Given the description of an element on the screen output the (x, y) to click on. 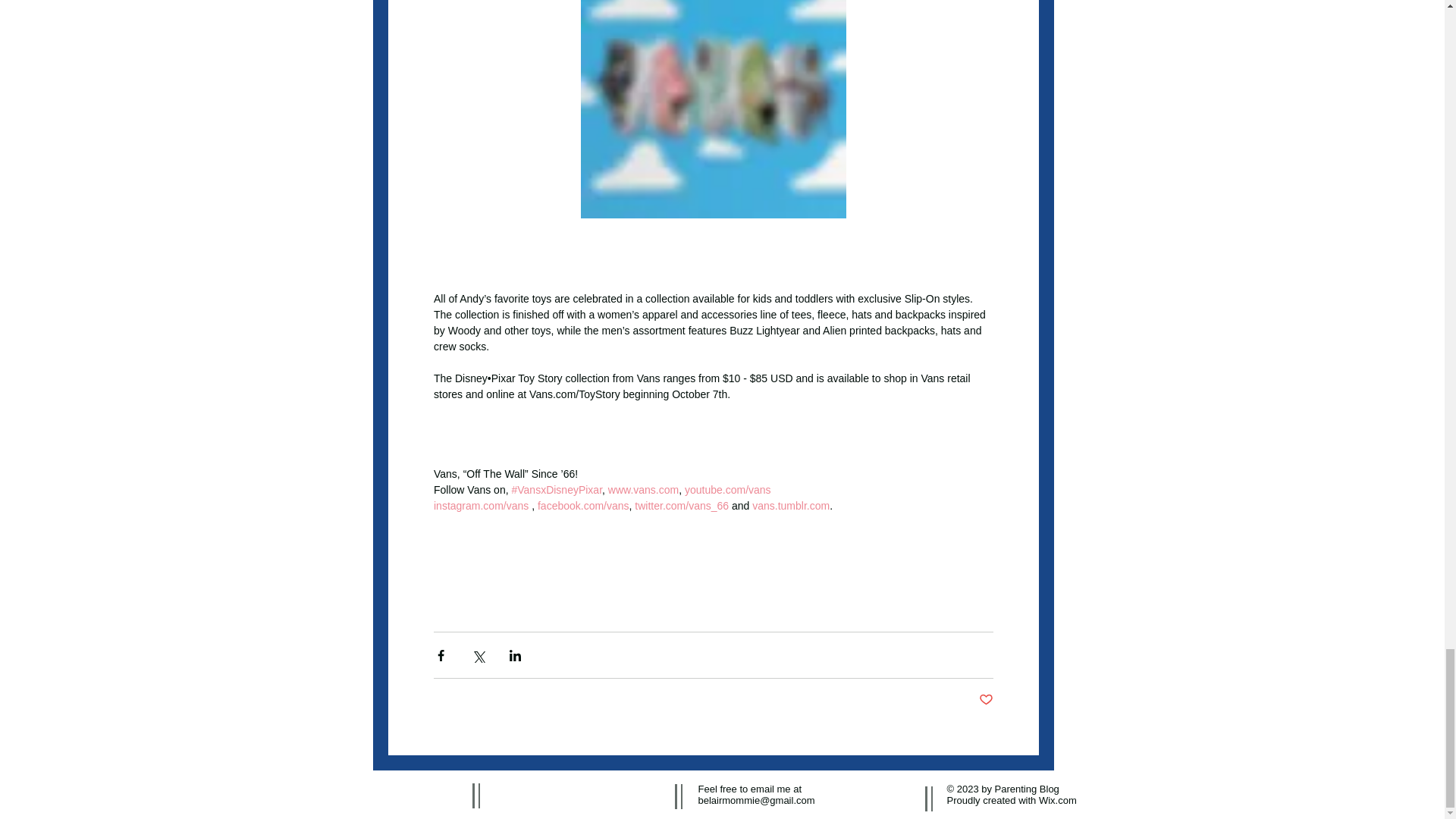
vans.tumblr.com (790, 505)
Wix.com (1058, 799)
Post not marked as liked (985, 700)
 www.vans.com (641, 490)
